Given the description of an element on the screen output the (x, y) to click on. 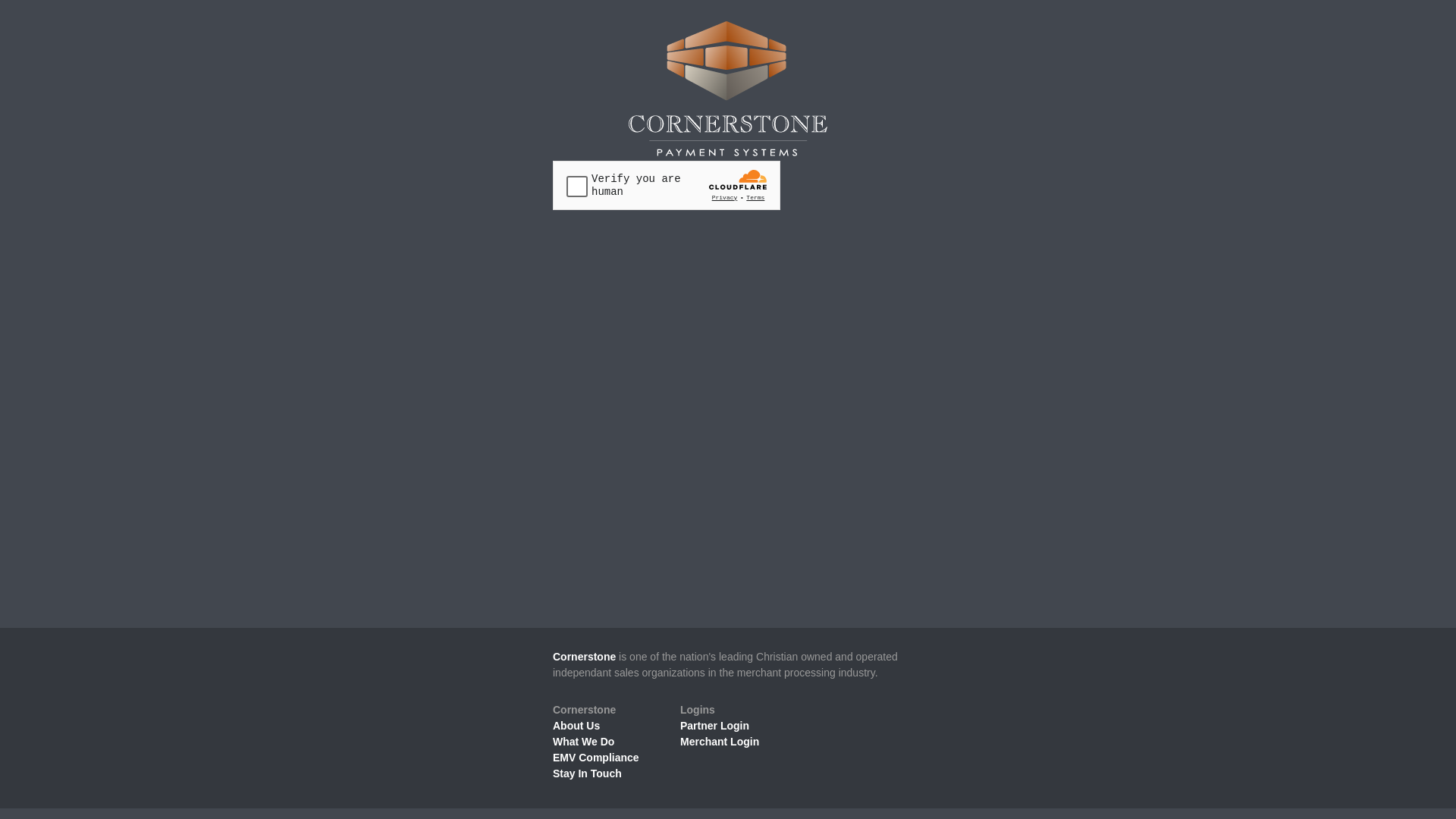
Widget containing a Cloudflare security challenge Element type: hover (666, 185)
EMV Compliance Element type: text (595, 757)
What We Do Element type: text (583, 741)
Partner Login Element type: text (714, 725)
Cornerstone Element type: text (583, 656)
Stay In Touch Element type: text (586, 773)
Merchant Login Element type: text (719, 741)
About Us Element type: text (575, 725)
